Given the description of an element on the screen output the (x, y) to click on. 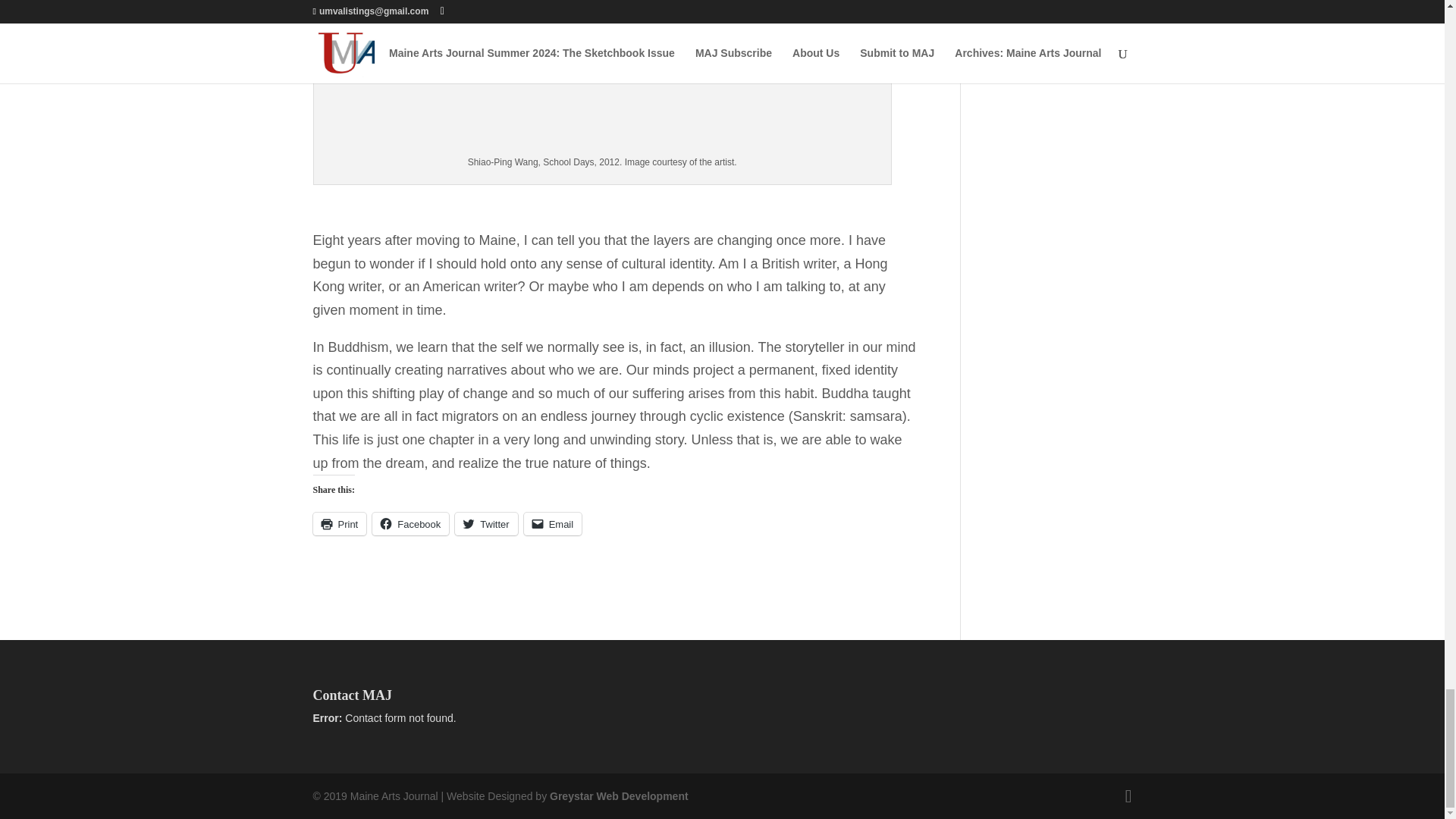
Click to share on Twitter (485, 523)
Facebook (410, 523)
Greystar Web Development (619, 796)
Click to print (339, 523)
Email (553, 523)
Click to email a link to a friend (553, 523)
Print (339, 523)
Click to share on Facebook (410, 523)
Twitter (485, 523)
